Given the description of an element on the screen output the (x, y) to click on. 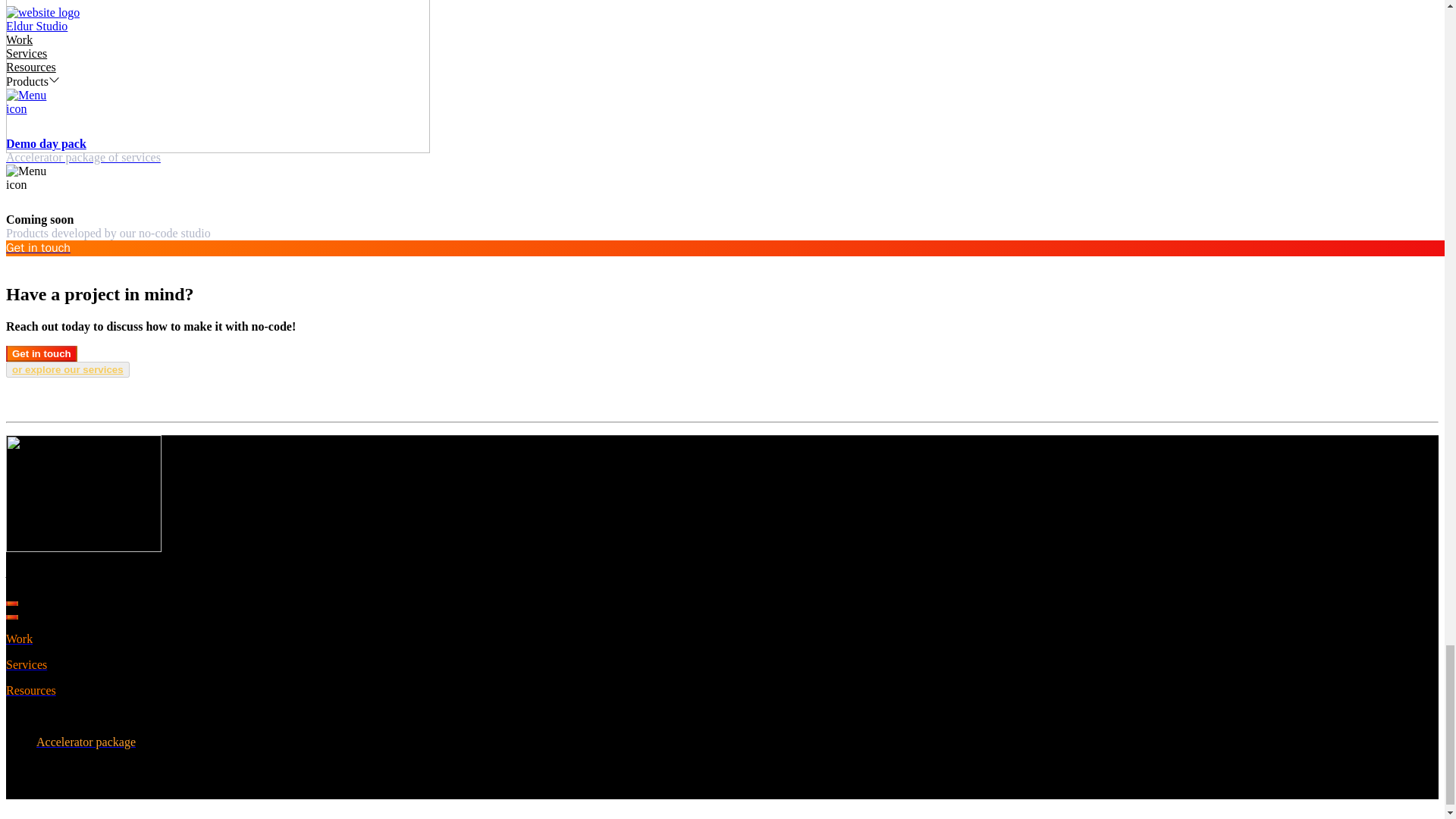
Get in touch (41, 352)
Get in touch (41, 353)
Services (25, 664)
or explore our services (67, 369)
Resources (30, 689)
Accelerator package (85, 741)
or explore our services (67, 368)
Work (18, 638)
